Given the description of an element on the screen output the (x, y) to click on. 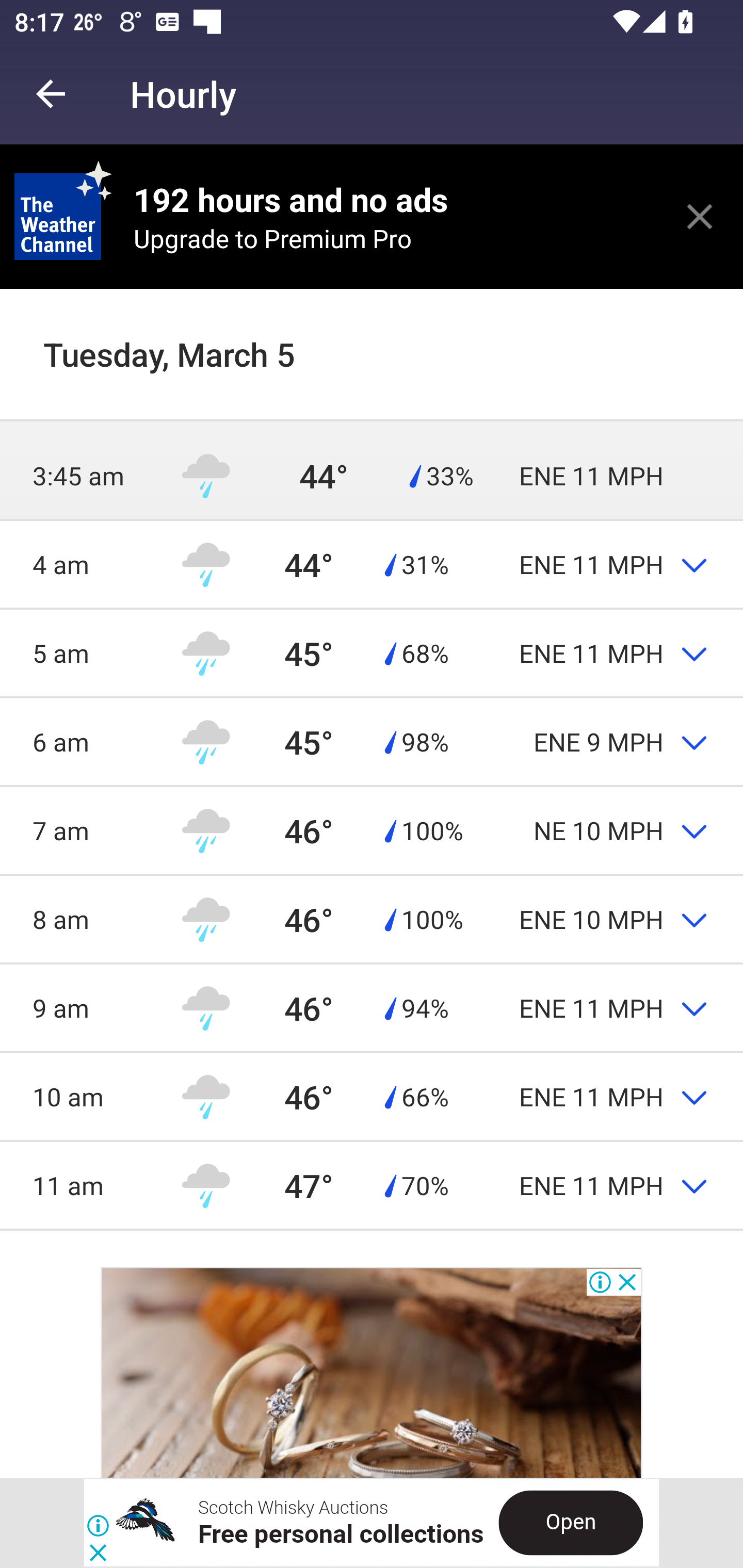
Navigate up (50, 93)
close this (699, 216)
4 am 44° 31% ENE 11 MPH (371, 564)
5 am 45° 68% ENE 11 MPH (371, 652)
6 am 45° 98% ENE 9 MPH (371, 741)
7 am 46° 100% NE 10 MPH (371, 830)
8 am 46° 100% ENE 10 MPH (371, 919)
9 am 46° 94% ENE 11 MPH (371, 1007)
10 am 46° 66% ENE 11 MPH (371, 1096)
11 am 47° 70% ENE 11 MPH (371, 1185)
venus-tears (371, 1371)
